Given the description of an element on the screen output the (x, y) to click on. 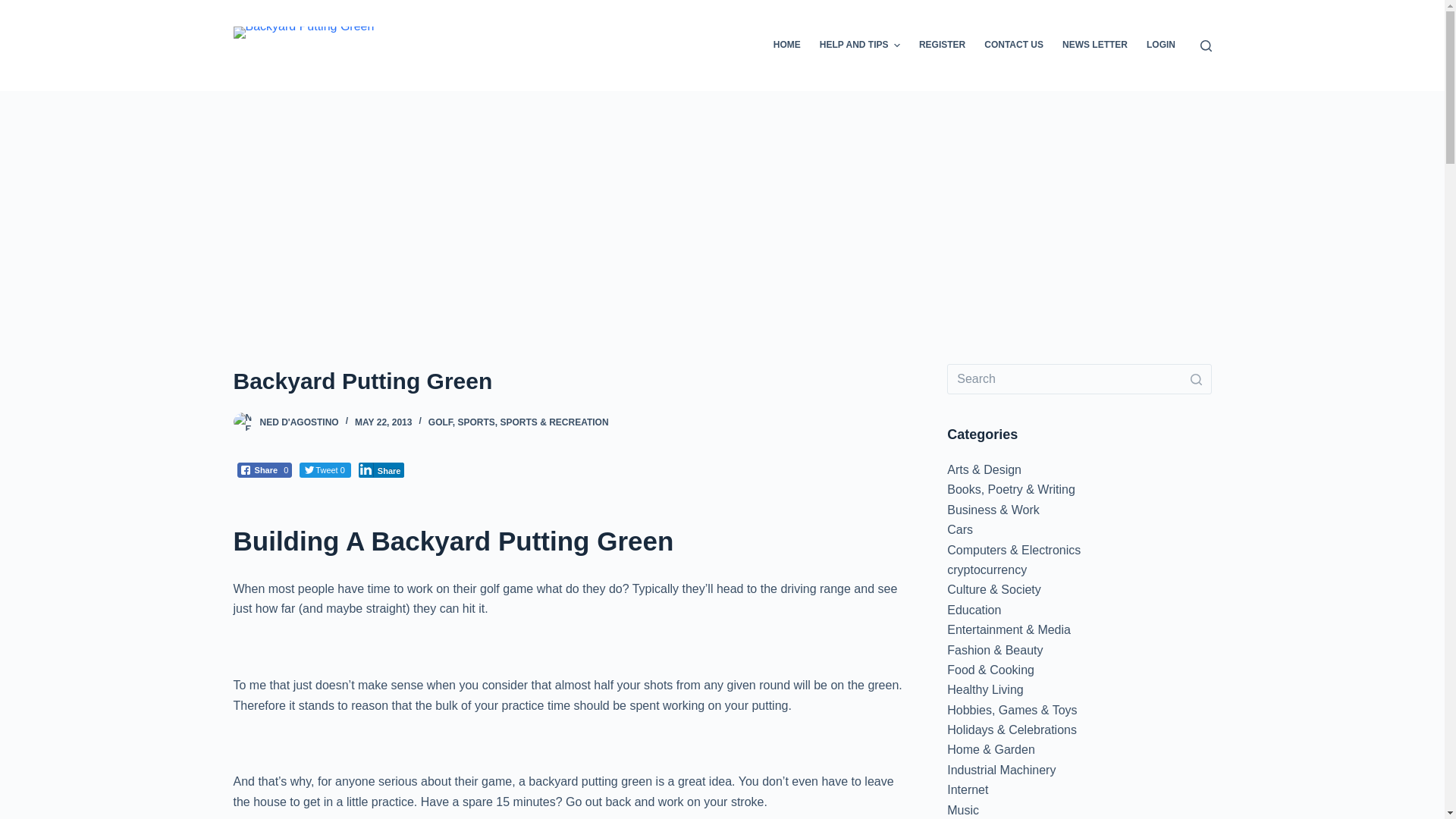
Backyard Putting Green (570, 380)
Posts by Ned D'Agostino (298, 421)
Backyard Putting Green (303, 32)
Skip to content (15, 7)
Search for... (1079, 378)
